Given the description of an element on the screen output the (x, y) to click on. 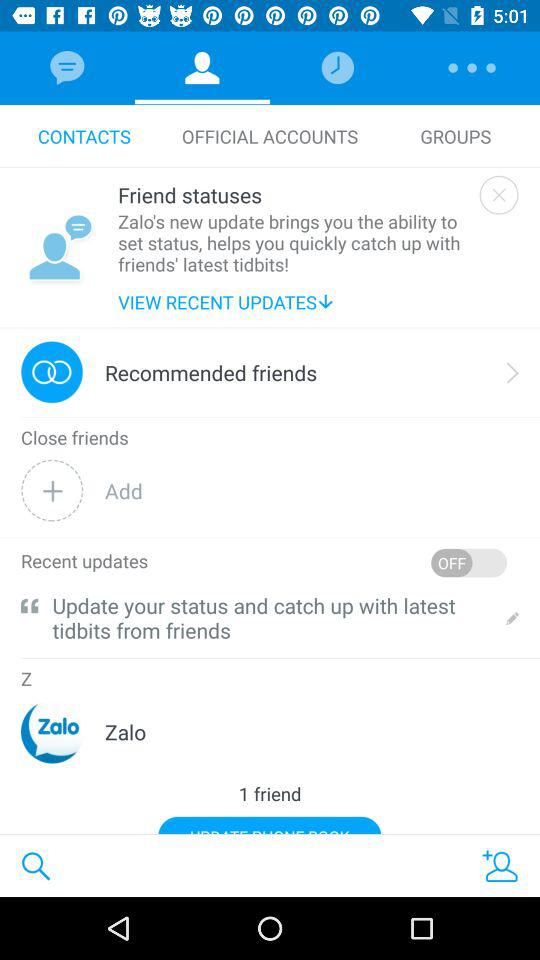
click on the next button beside recommended friends (512, 372)
click on contact icon beside message icon on the top of the web page (202, 68)
